Given the description of an element on the screen output the (x, y) to click on. 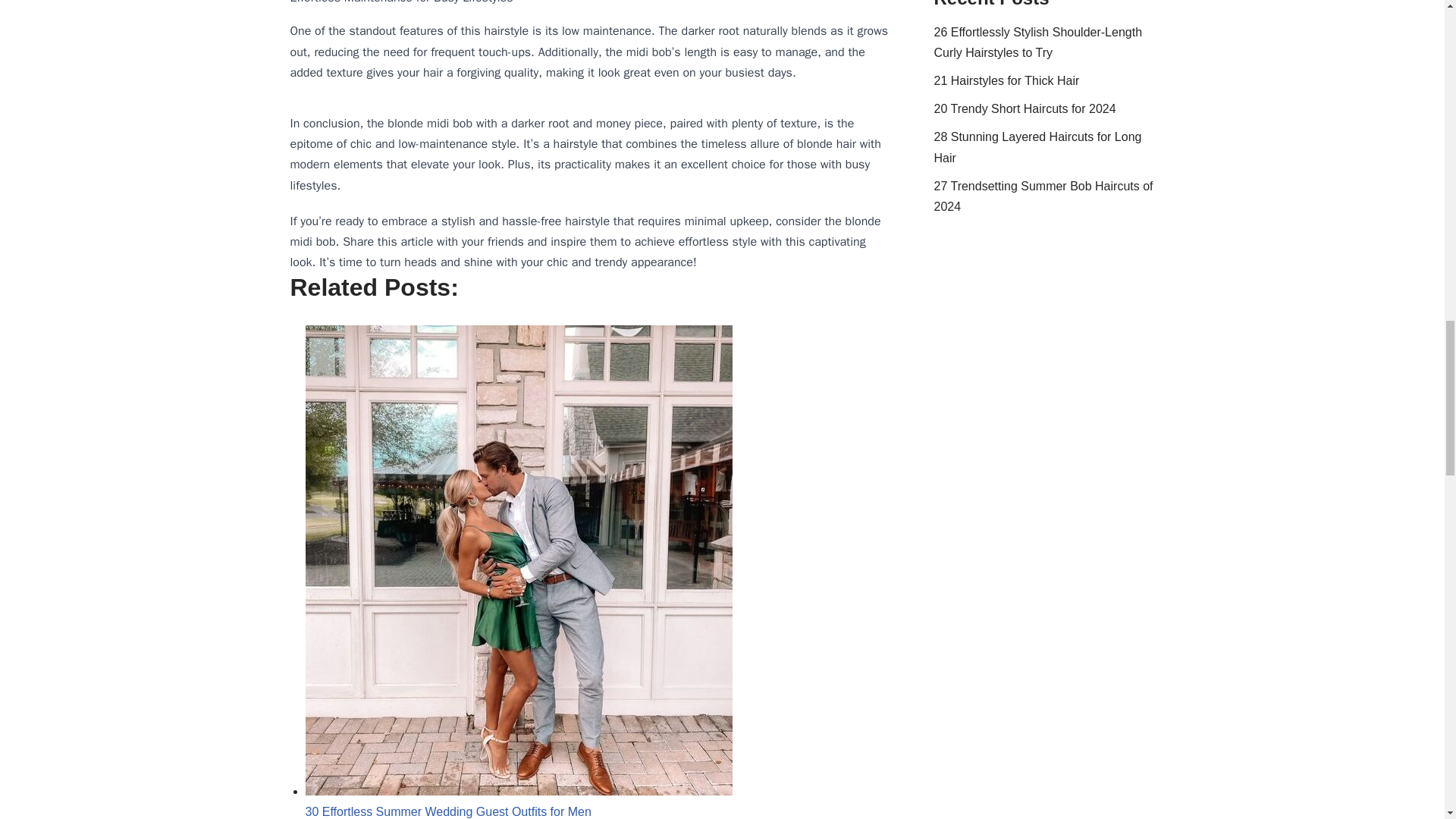
20 Trendy Short Haircuts for 2024 (1025, 108)
21 Hairstyles for Thick Hair (1007, 80)
